Given the description of an element on the screen output the (x, y) to click on. 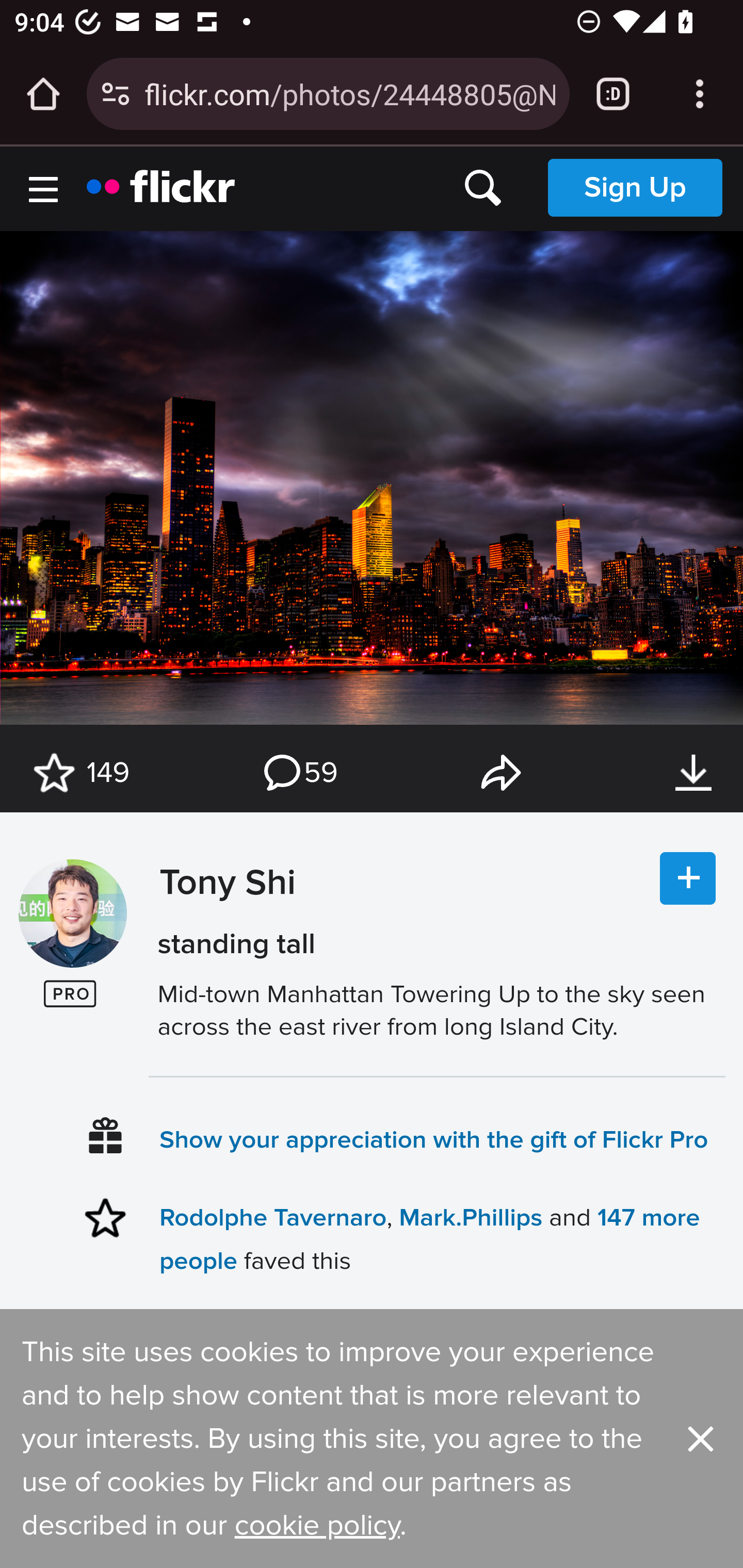
Open the home page (43, 93)
Connection is secure (115, 93)
Switch or close tabs (612, 93)
Customize and control Google Chrome (699, 93)
flickr.com/photos/24448805@N07/2909441524 (349, 92)
Sign Up Sign Up Sign Up (634, 187)
59 (299, 772)
Download this photo (692, 772)
Follow (687, 878)
tonyshi (72, 914)
Show your appreciation with the gift of Flickr Pro (434, 1138)
147 more people (429, 1238)
